Given the description of an element on the screen output the (x, y) to click on. 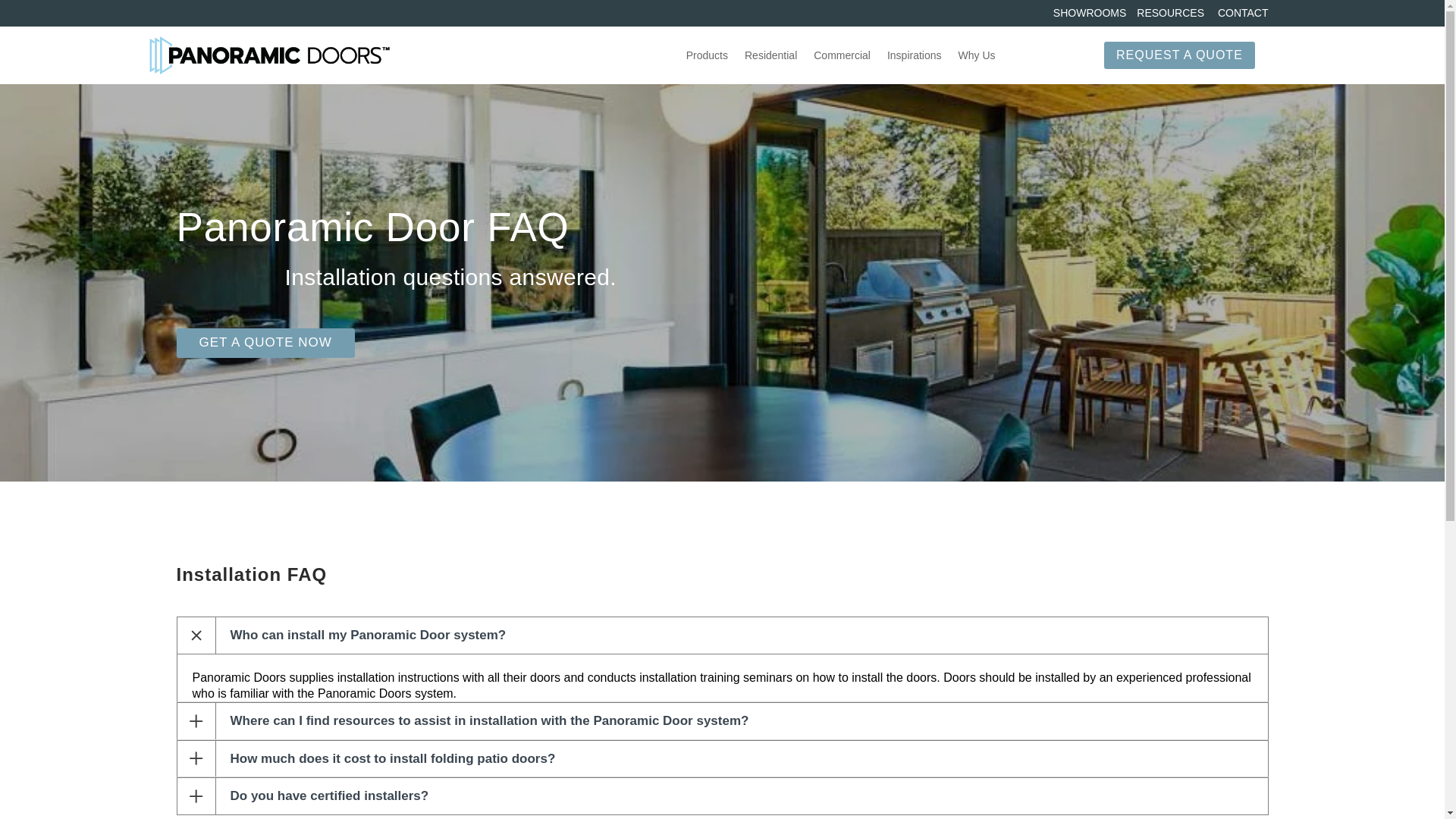
Commercial (841, 55)
REQUEST A QUOTE (1179, 55)
Inspirations (914, 55)
SHOWROOMS (1088, 12)
CONTACT (1242, 12)
Residential (770, 55)
RESOURCES (1170, 12)
